Given the description of an element on the screen output the (x, y) to click on. 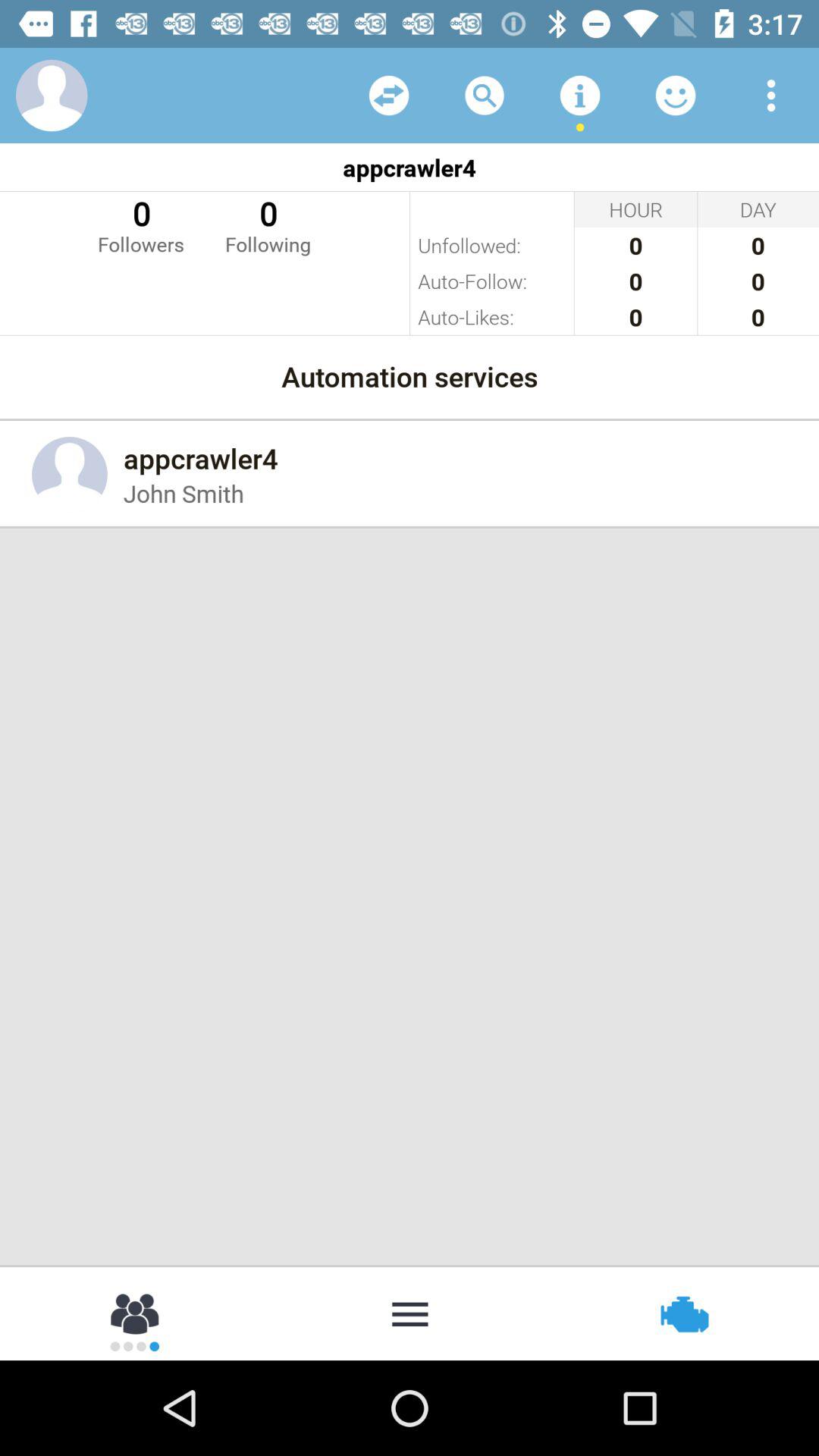
press the item next to 0
following item (140, 224)
